Given the description of an element on the screen output the (x, y) to click on. 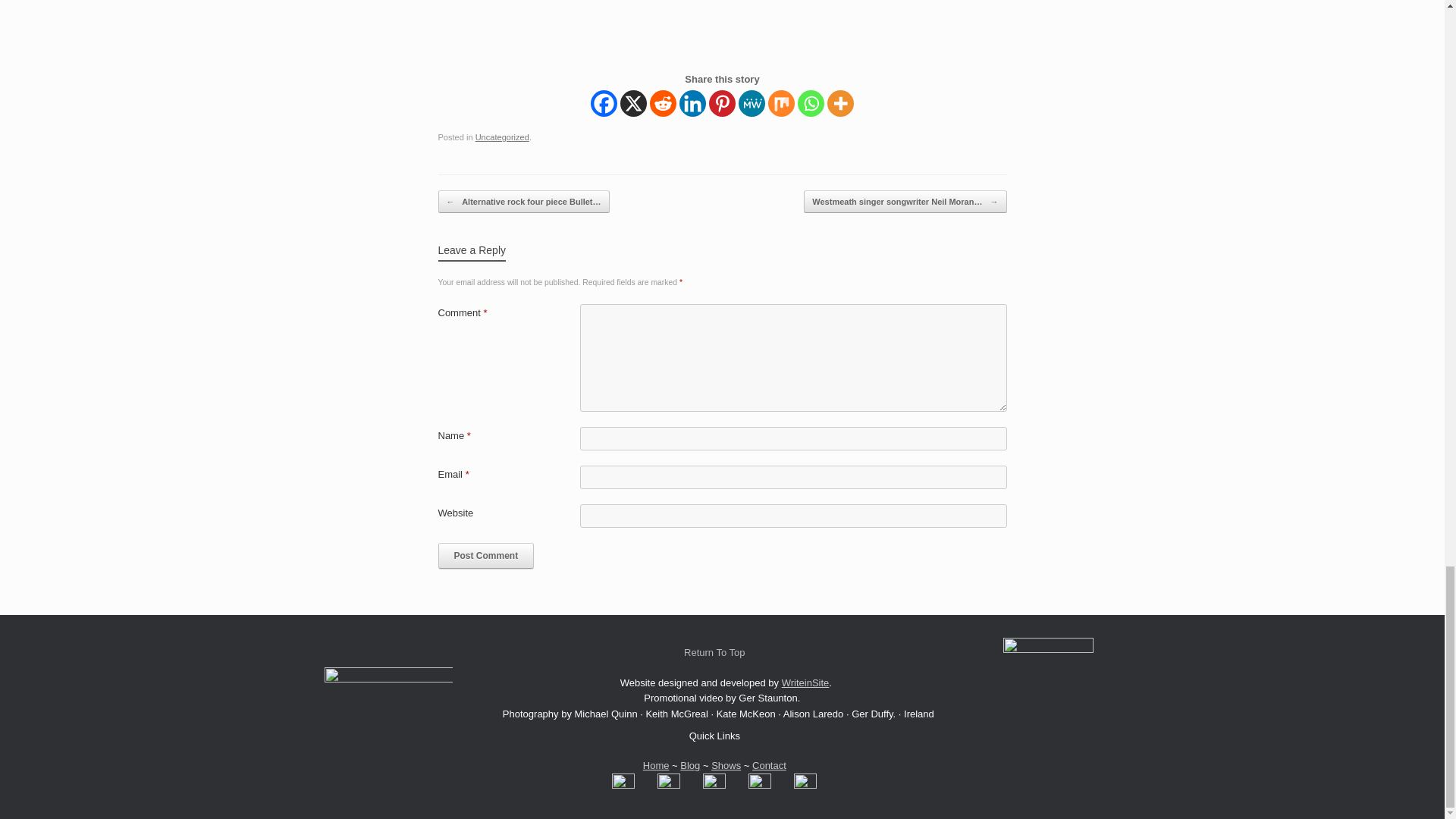
Shows (726, 765)
More (840, 103)
X (633, 103)
Mix (781, 103)
Blog (689, 765)
Home (656, 765)
Linkedin (692, 103)
Post Comment (486, 555)
Contact (769, 765)
Uncategorized (502, 136)
